Given the description of an element on the screen output the (x, y) to click on. 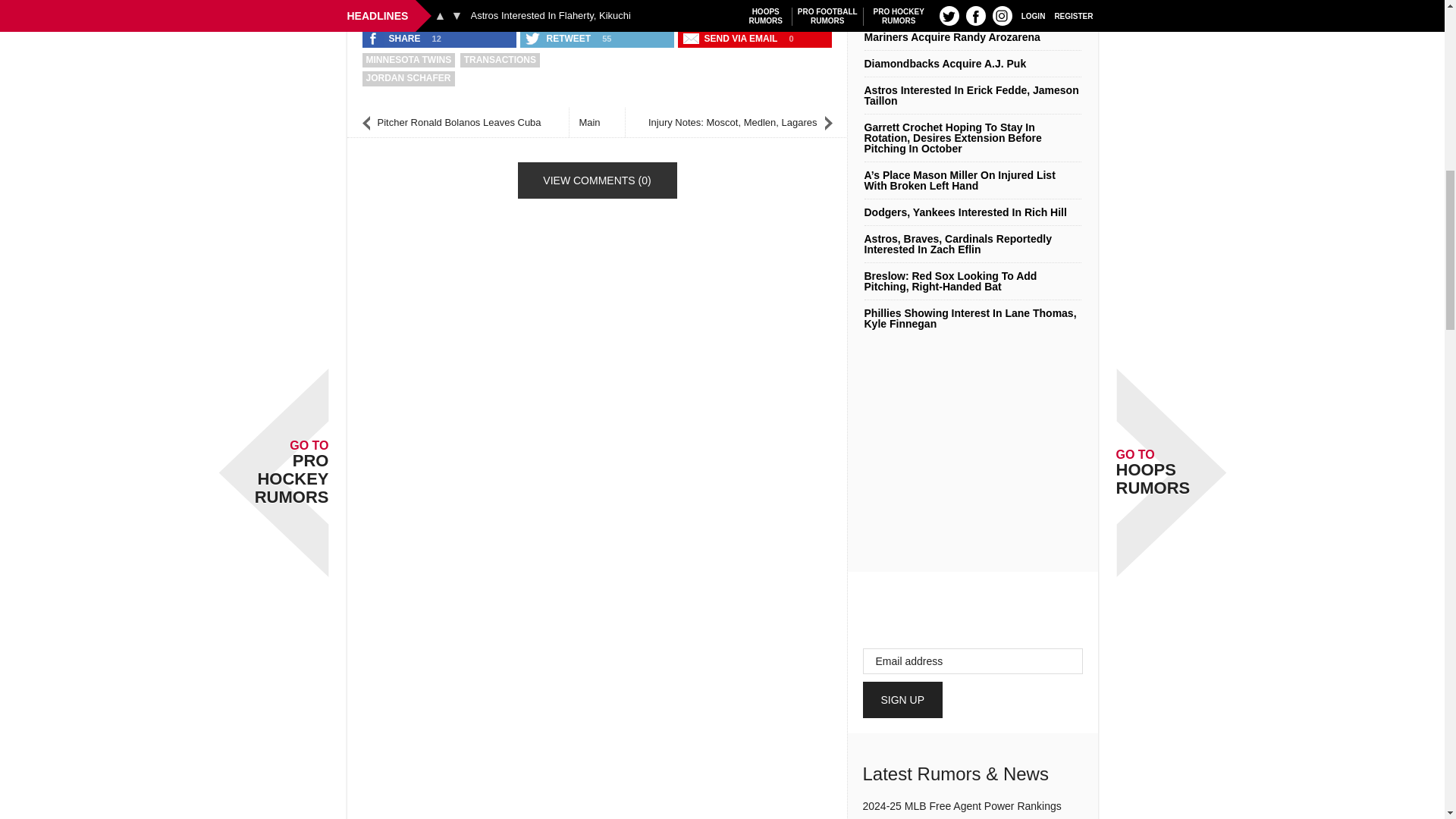
Send Twins Release Jordan Schafer with an email (732, 38)
Share 'Twins Release Jordan Schafer' on Facebook (395, 38)
Retweet 'Twins Release Jordan Schafer' on Twitter (558, 38)
3rd party ad content (597, 11)
Sign Up (903, 699)
